Given the description of an element on the screen output the (x, y) to click on. 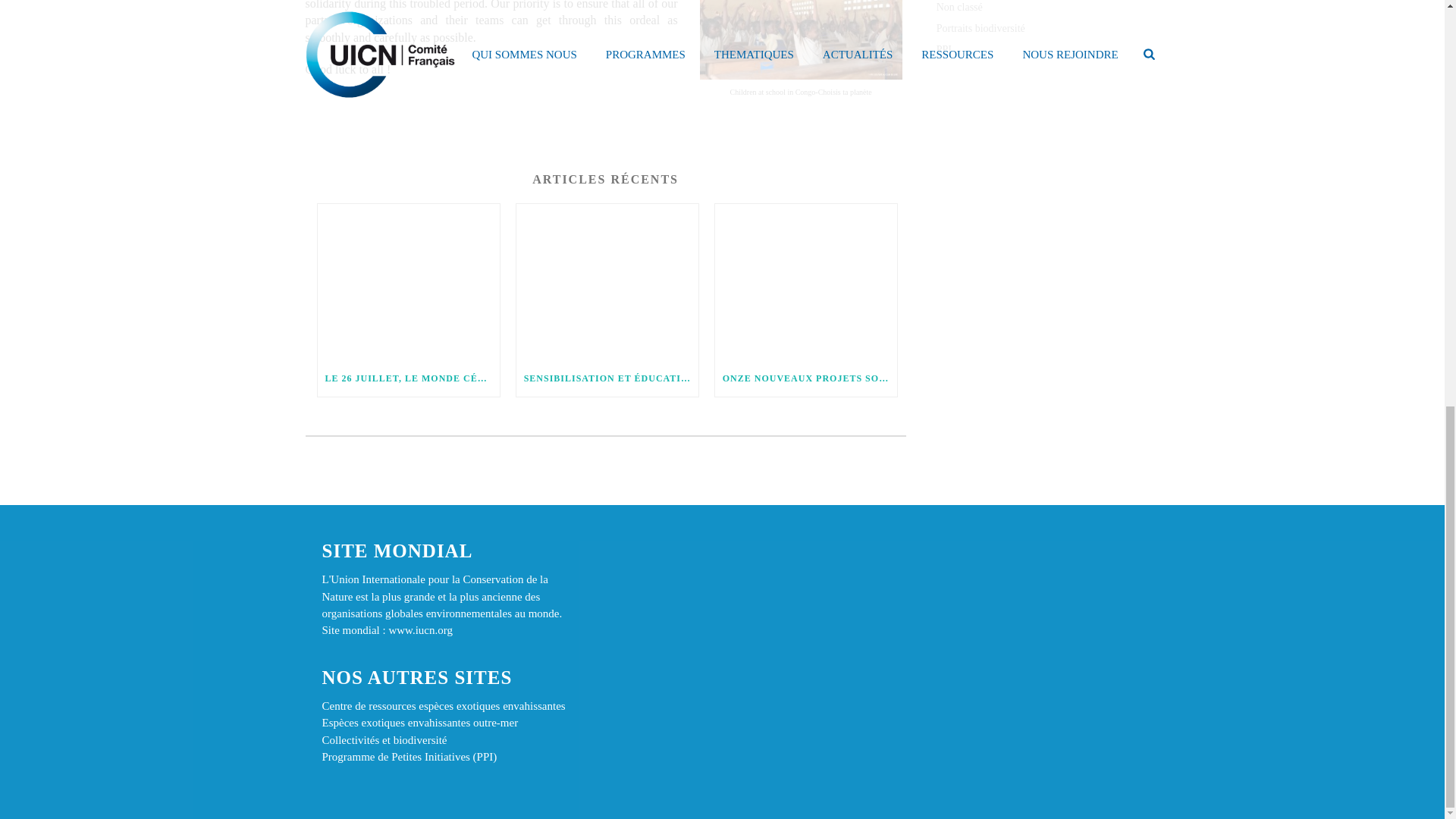
Onze nouveaux projets soutenus par ProBioDev (805, 281)
